Given the description of an element on the screen output the (x, y) to click on. 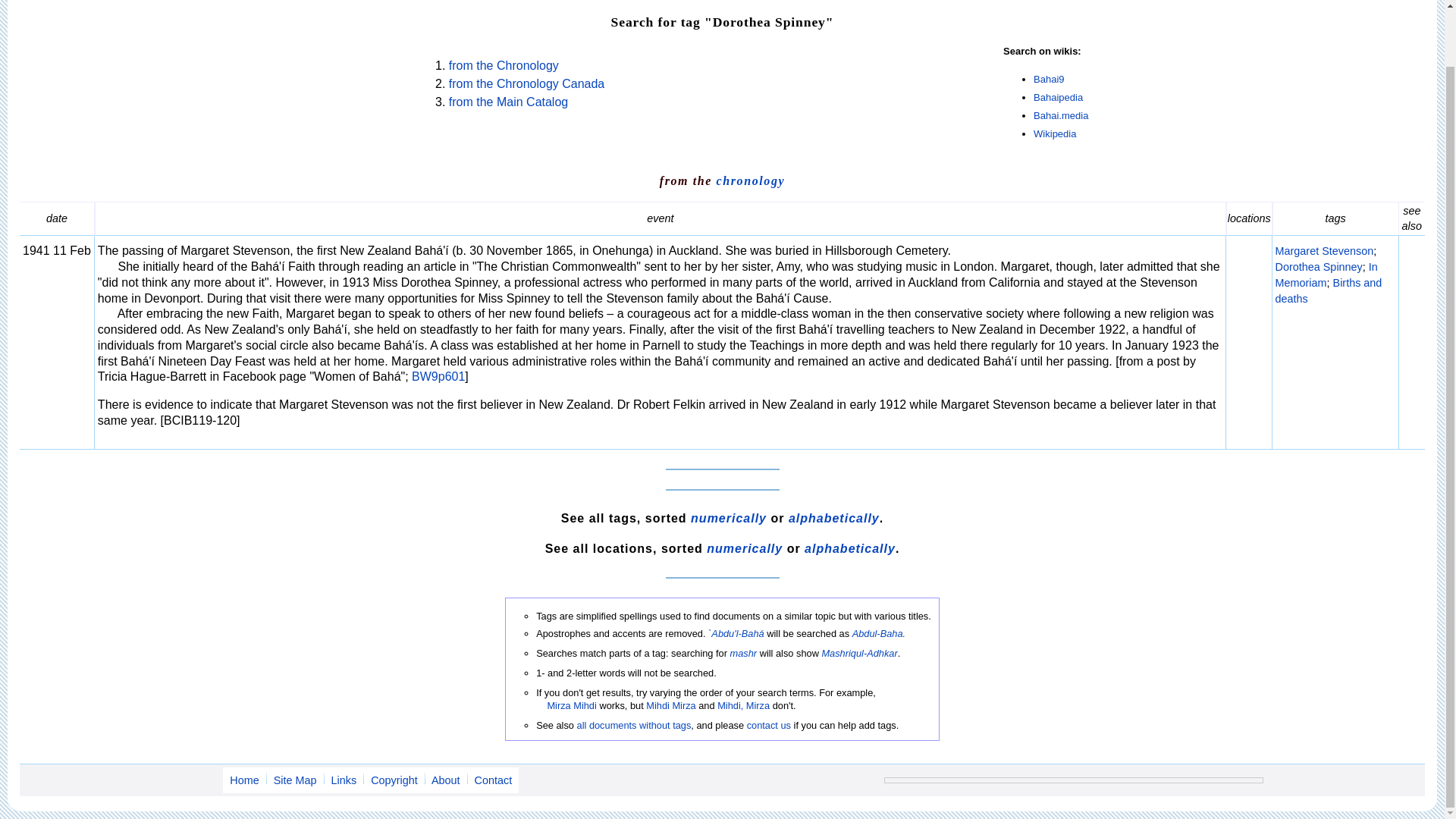
from the Chronology Canada (526, 83)
all documents without tags (633, 725)
alphabetically (834, 517)
numerically (728, 517)
BW9p601 (438, 376)
Mihdi, Mirza (743, 705)
Bahai.media (1060, 115)
chronology (751, 180)
mashr (743, 653)
Wikipedia (1054, 133)
Dorothea Spinney (1318, 266)
from the Main Catalog (507, 101)
Margaret Stevenson (1324, 250)
from the Chronology (503, 65)
In Memoriam (1326, 275)
